Given the description of an element on the screen output the (x, y) to click on. 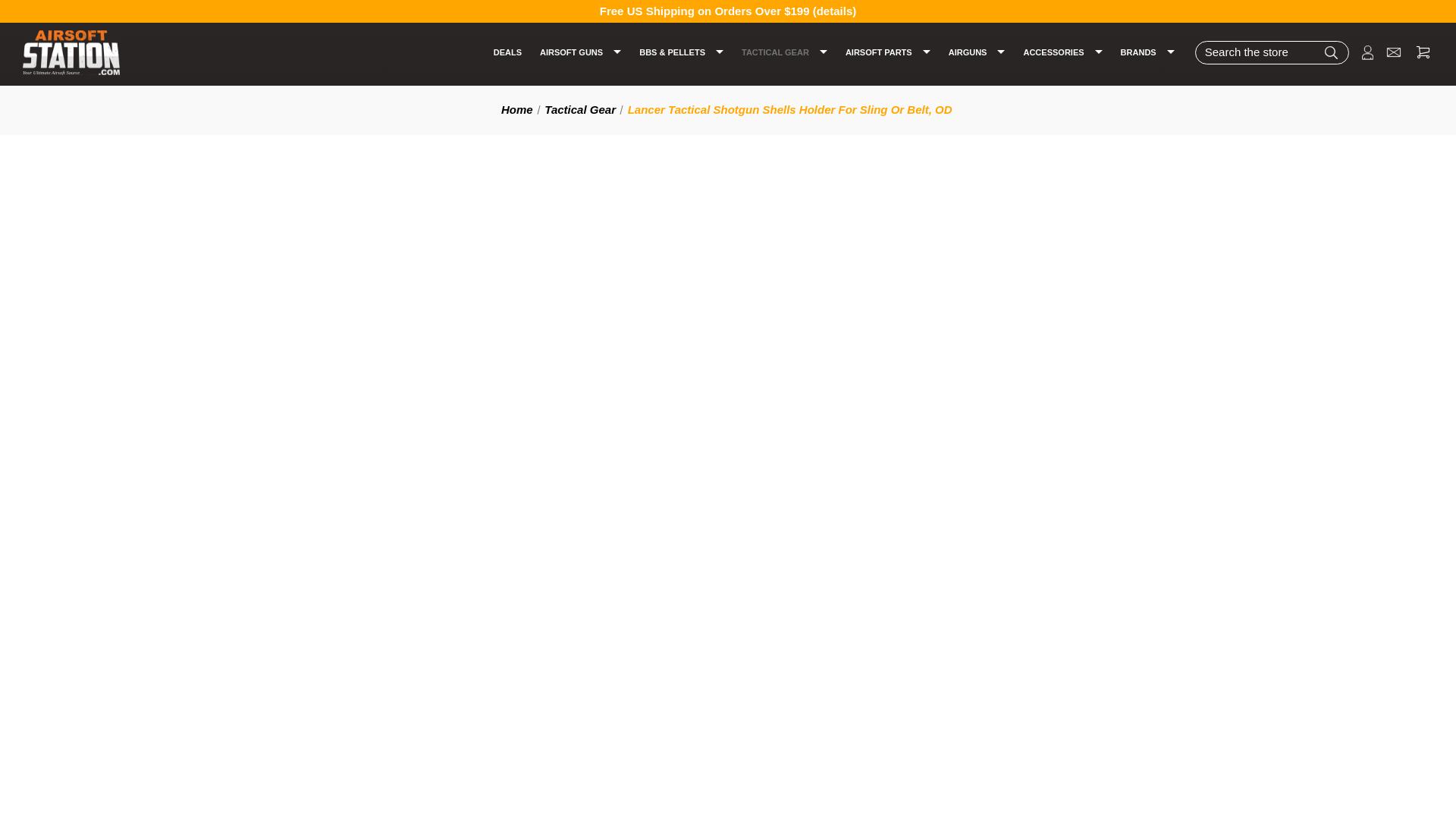
DEALS (507, 51)
AIRSOFT GUNS (580, 51)
Airsoft Station (71, 53)
TACTICAL GEAR (784, 51)
Free shipping info (834, 10)
